Given the description of an element on the screen output the (x, y) to click on. 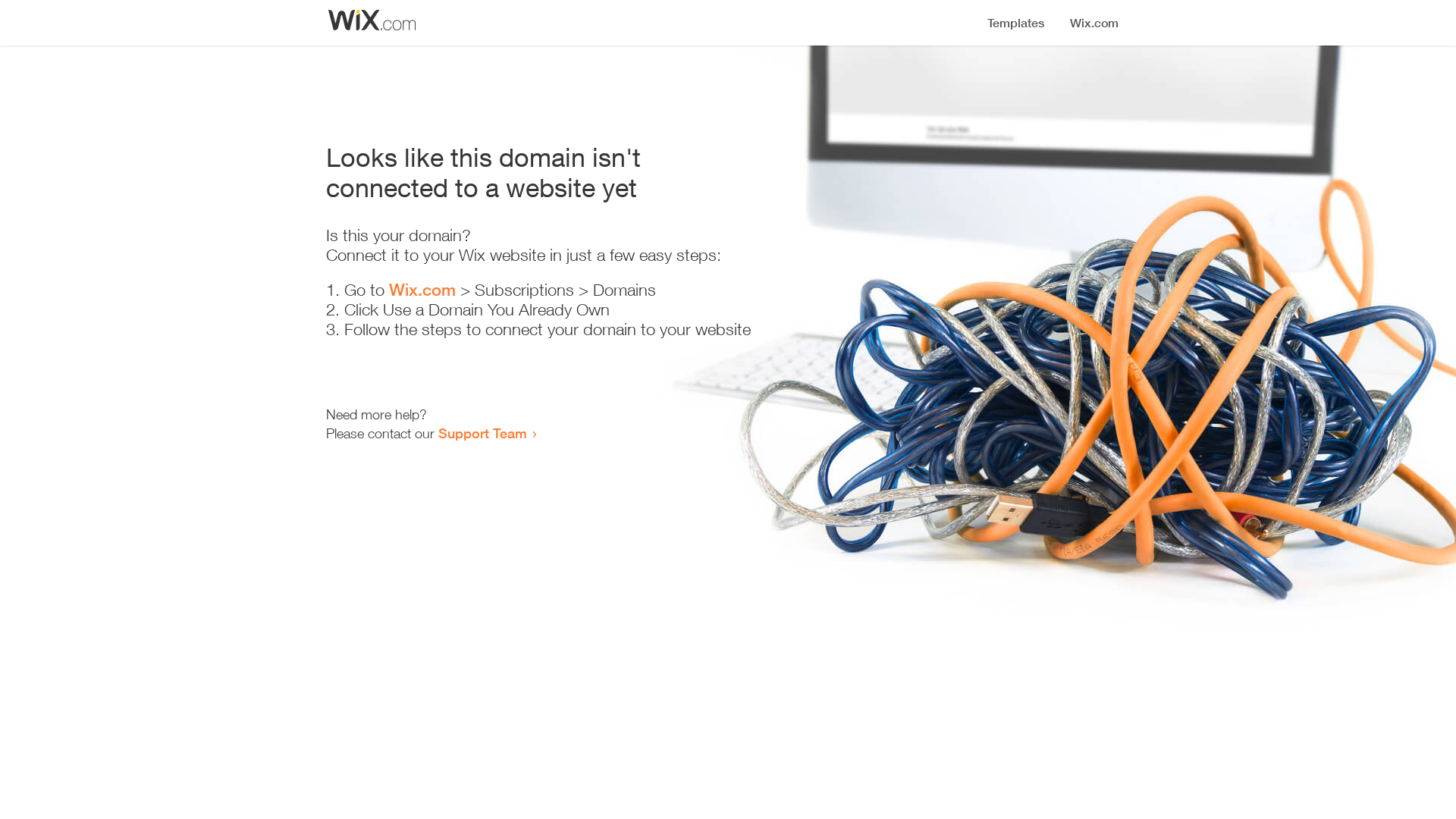
Wix.com Element type: text (422, 289)
Support Team Element type: text (482, 432)
